Given the description of an element on the screen output the (x, y) to click on. 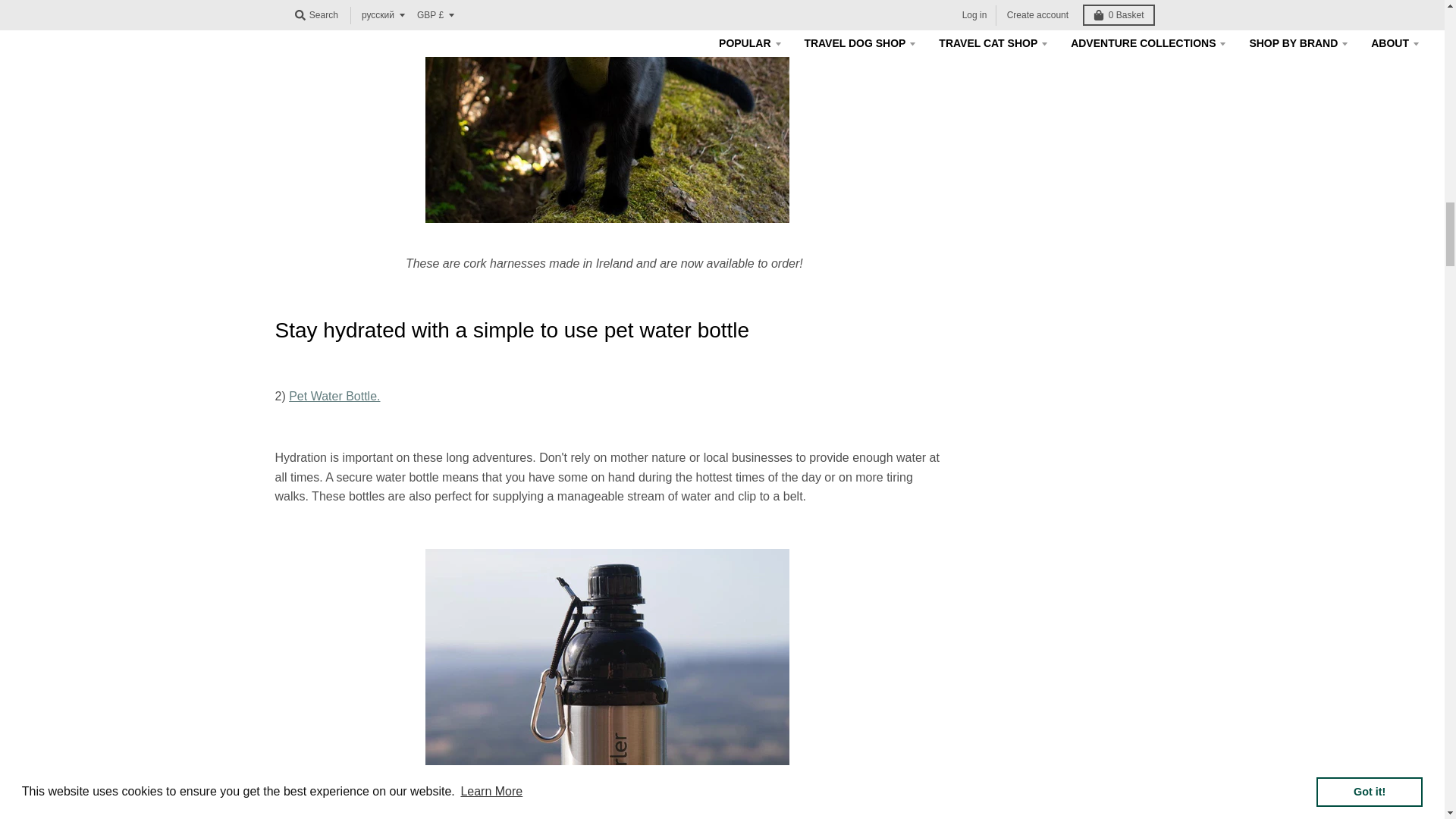
pet water bottle (334, 395)
